Given the description of an element on the screen output the (x, y) to click on. 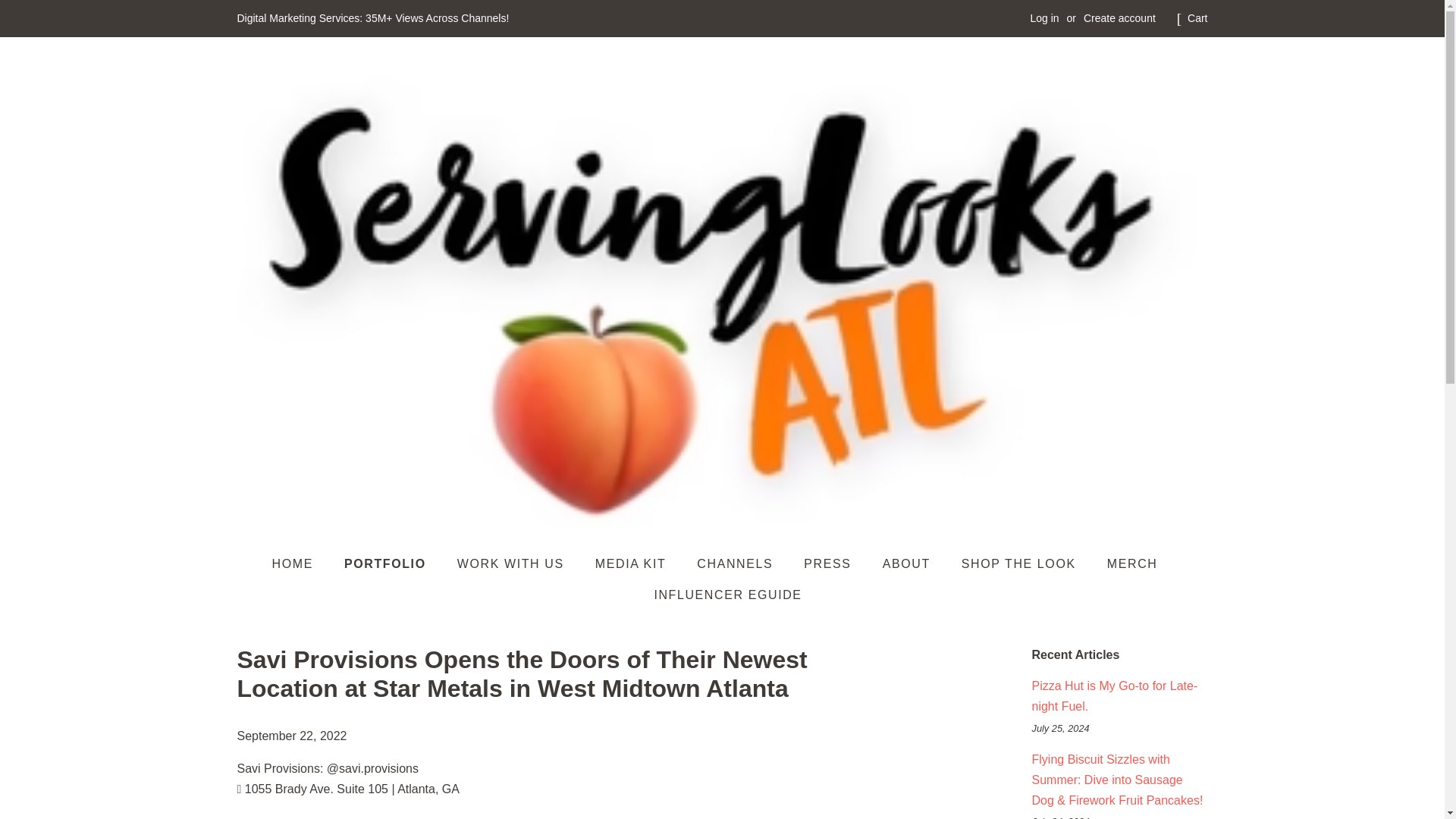
ABOUT (907, 563)
Log in (1043, 18)
HOME (300, 563)
Pizza Hut is My Go-to for Late-night Fuel. (1113, 695)
MEDIA KIT (632, 563)
Create account (1119, 18)
PRESS (829, 563)
SHOP THE LOOK (1020, 563)
CHANNELS (736, 563)
MERCH (1134, 563)
